Given the description of an element on the screen output the (x, y) to click on. 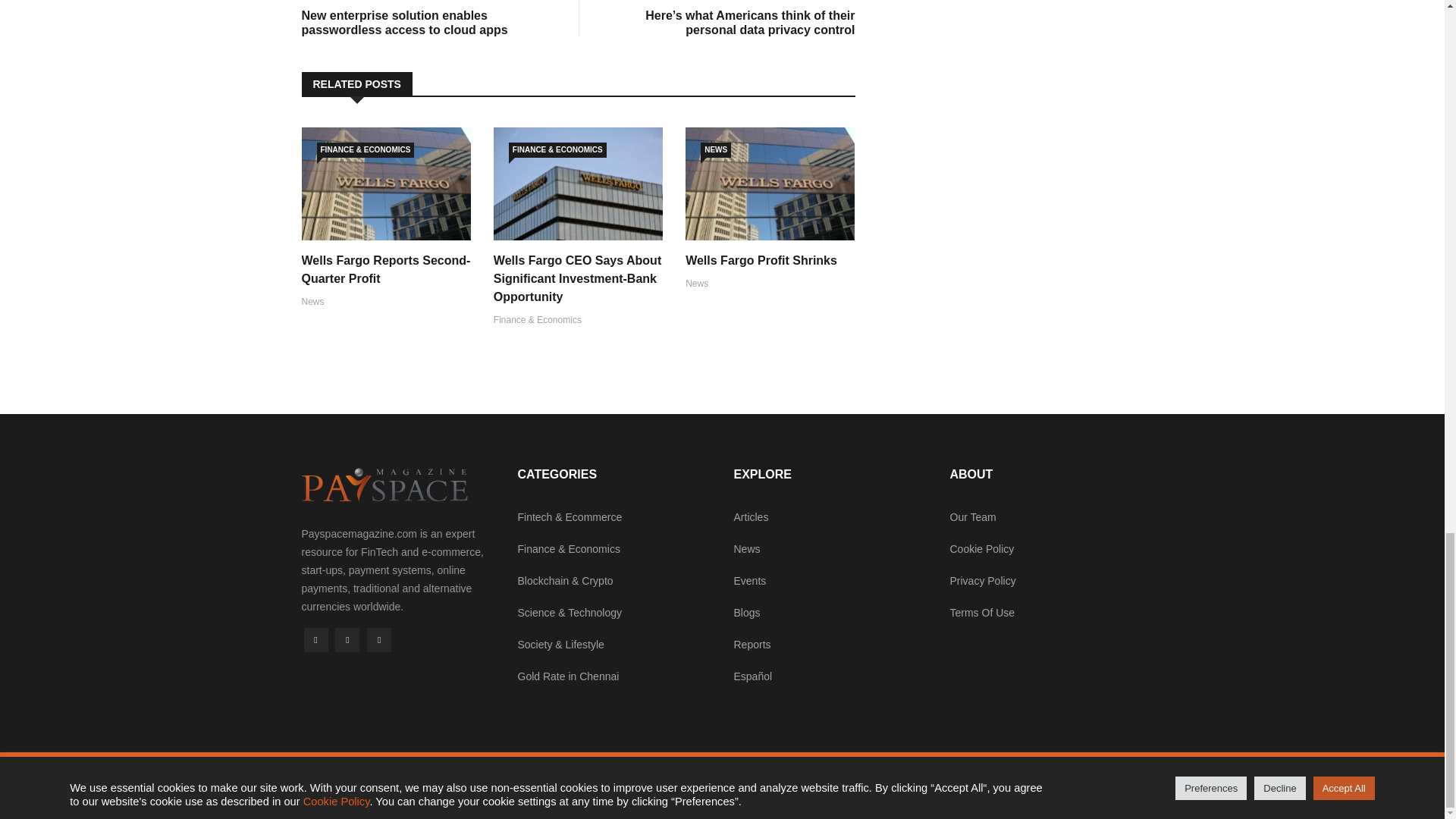
NEWS (715, 150)
Wells Fargo Reports Second-Quarter Profit (385, 269)
Wells Fargo Profit Shrinks (761, 259)
Twitter (346, 639)
RSS (378, 639)
Facebook (314, 639)
